Given the description of an element on the screen output the (x, y) to click on. 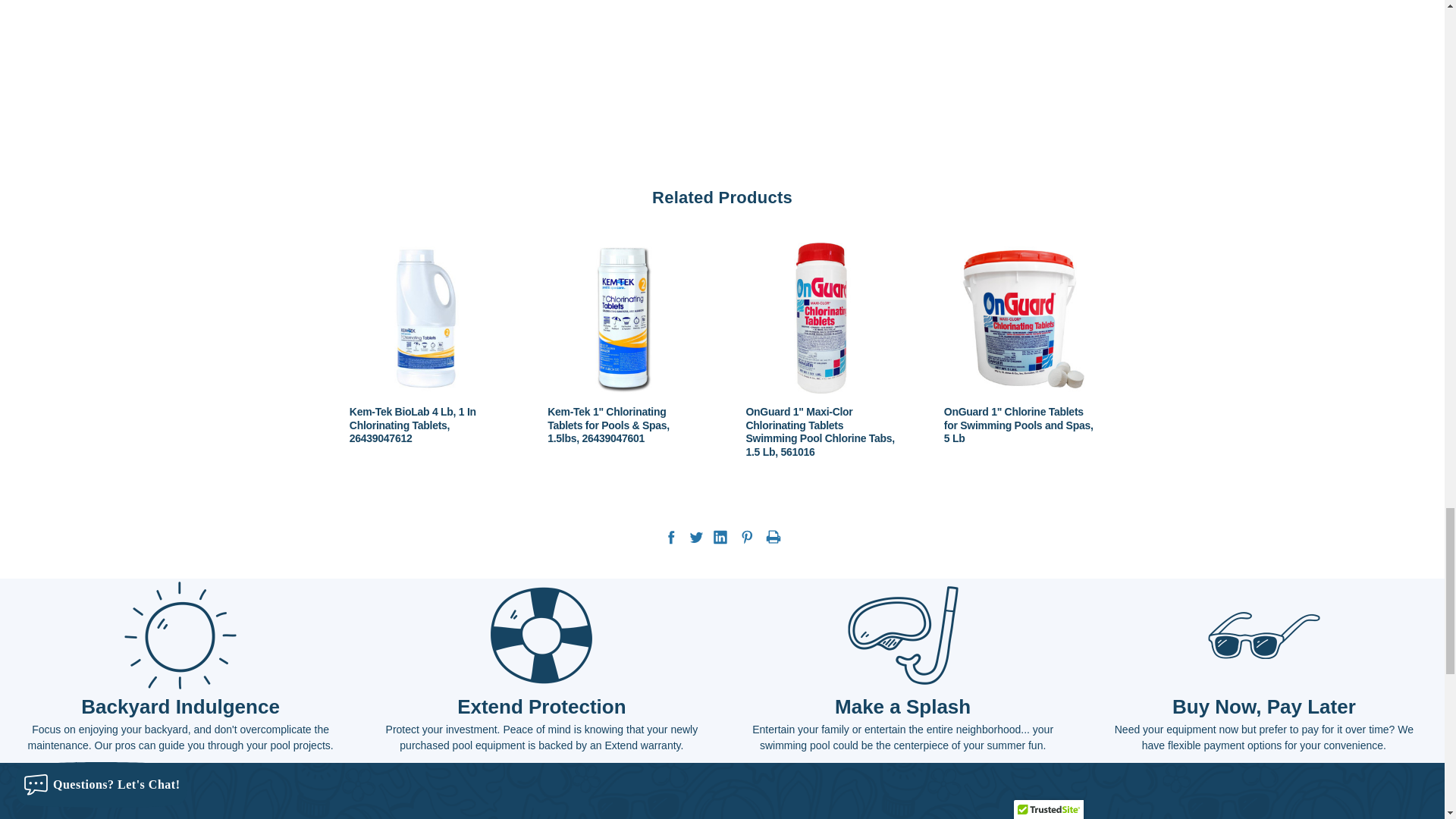
OnGuard 1 (820, 317)
Kem-Tek 1 (622, 317)
Kem-Tek BioLab 4 Lb, 1 In Chlorinating Tablets, 26439047612 (424, 317)
OnGuard 1 (1018, 317)
